Given the description of an element on the screen output the (x, y) to click on. 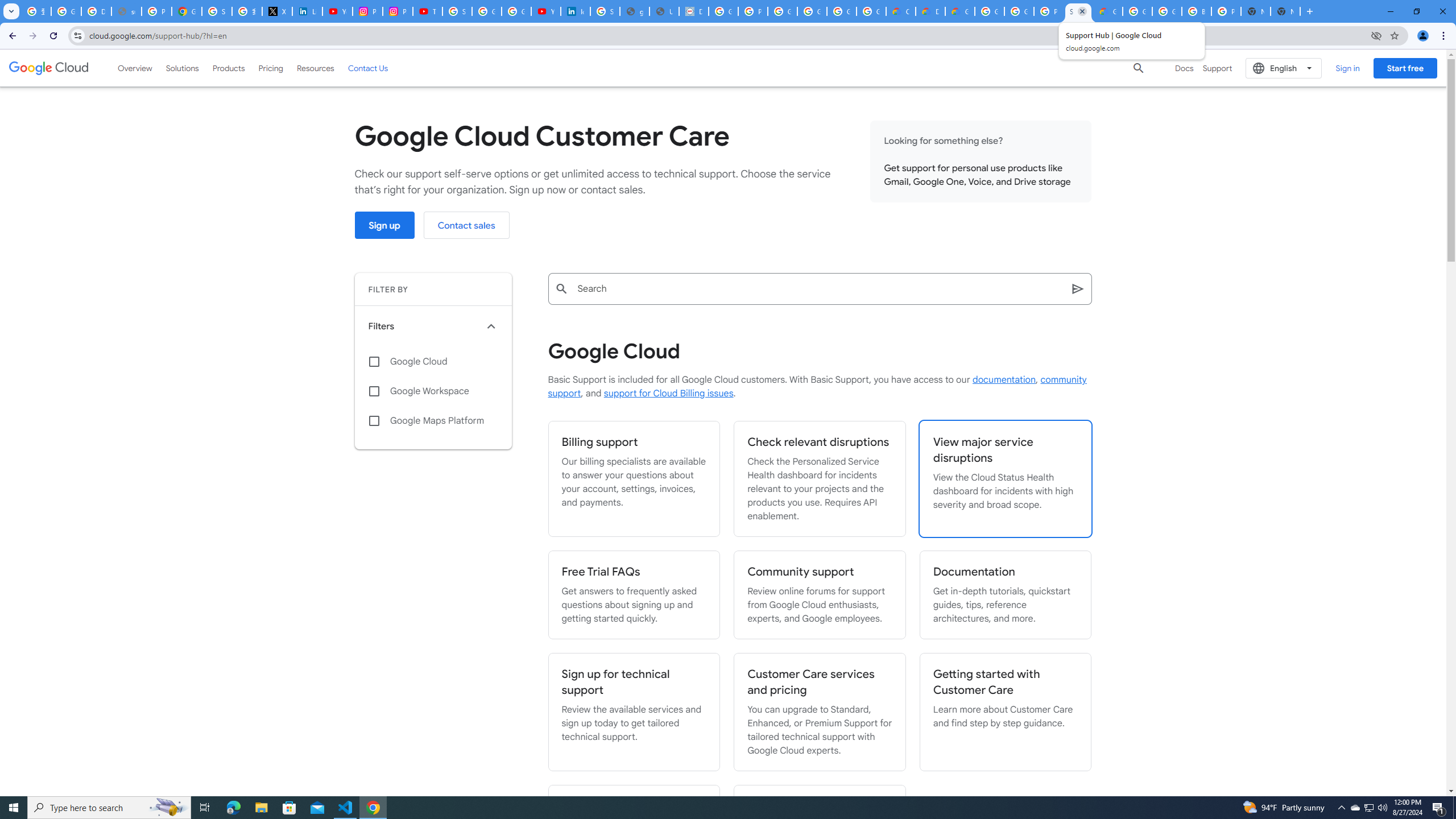
Sign in - Google Accounts (216, 11)
Resources (314, 67)
